Given the description of an element on the screen output the (x, y) to click on. 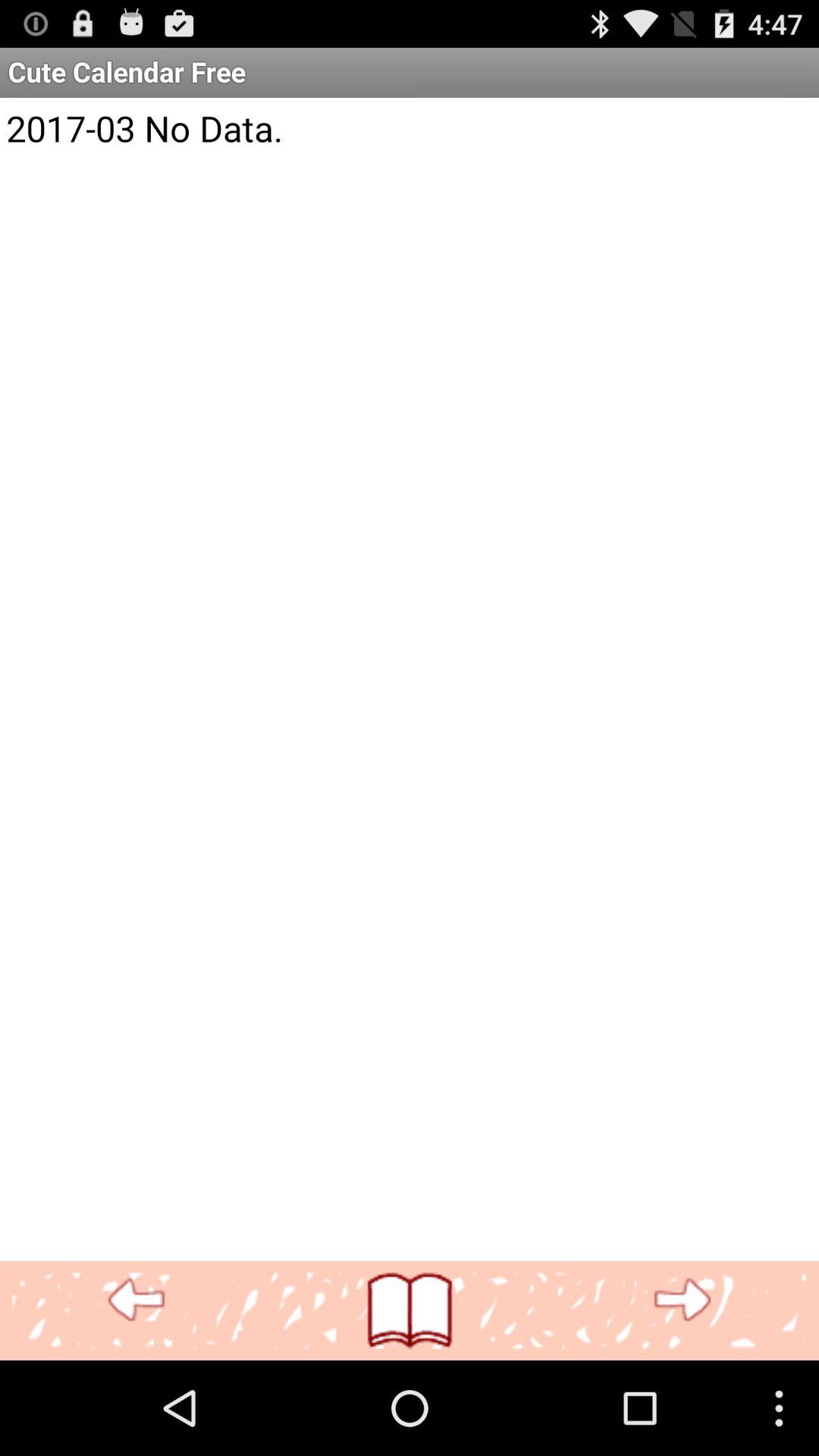
select app below the 2017 03 no app (136, 1300)
